Given the description of an element on the screen output the (x, y) to click on. 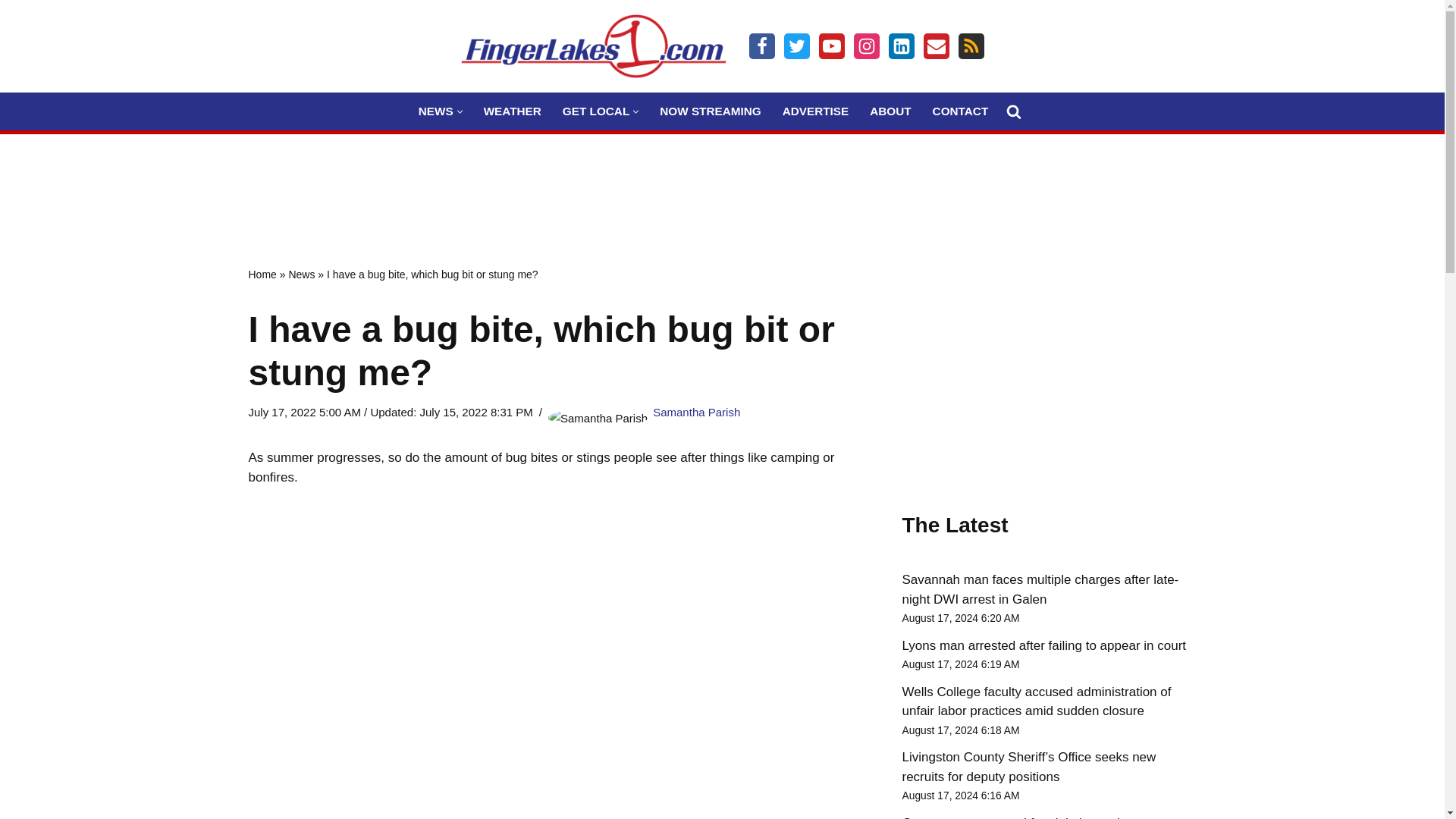
WEATHER (512, 111)
Feed (971, 45)
CONTACT (960, 111)
Skip to content (11, 31)
Email Us (936, 45)
Instagram (866, 45)
GET LOCAL (595, 111)
Twitter (796, 45)
Posts by Samantha Parish (695, 411)
NEWS (435, 111)
